Given the description of an element on the screen output the (x, y) to click on. 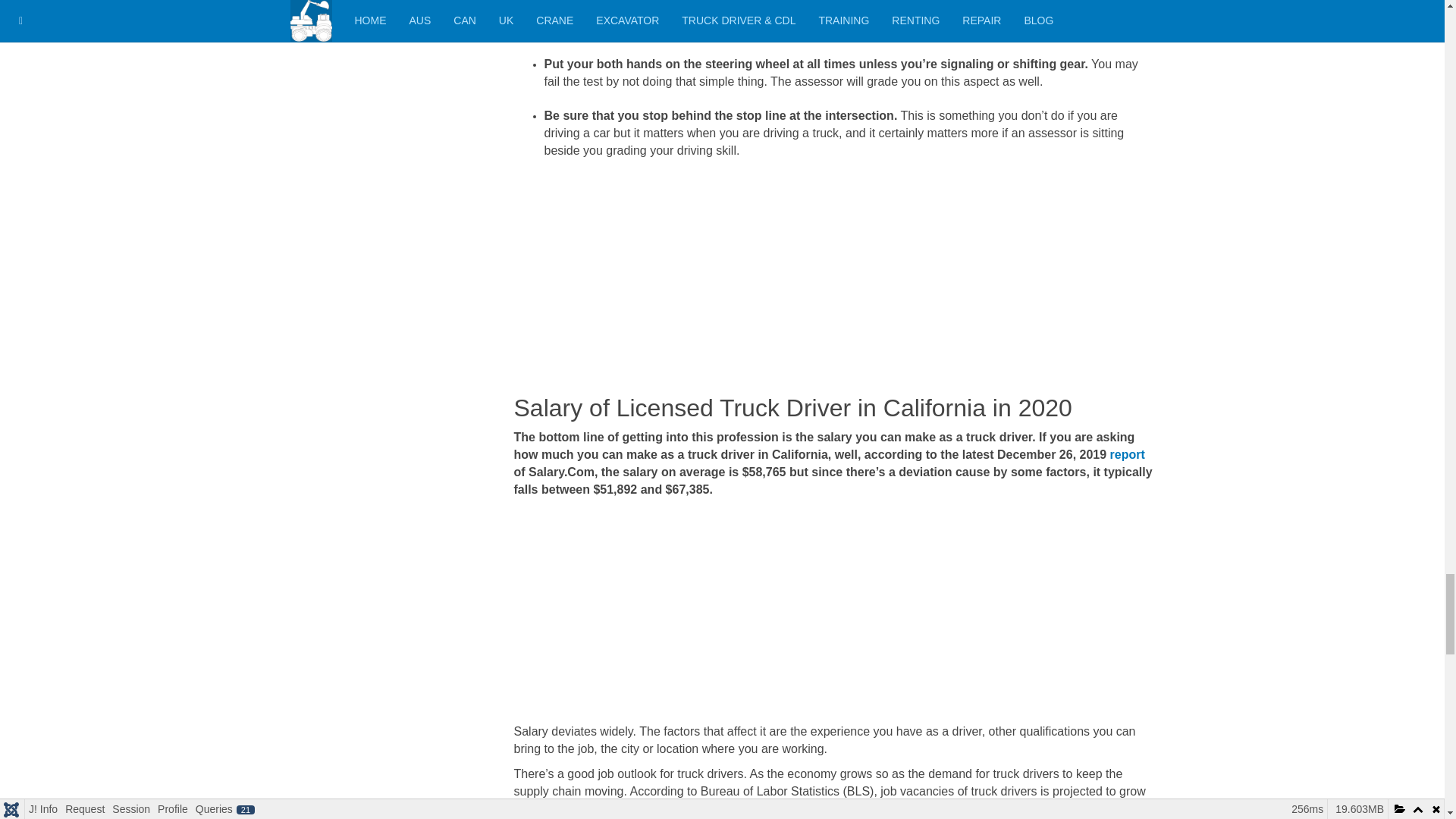
report (1126, 454)
